Given the description of an element on the screen output the (x, y) to click on. 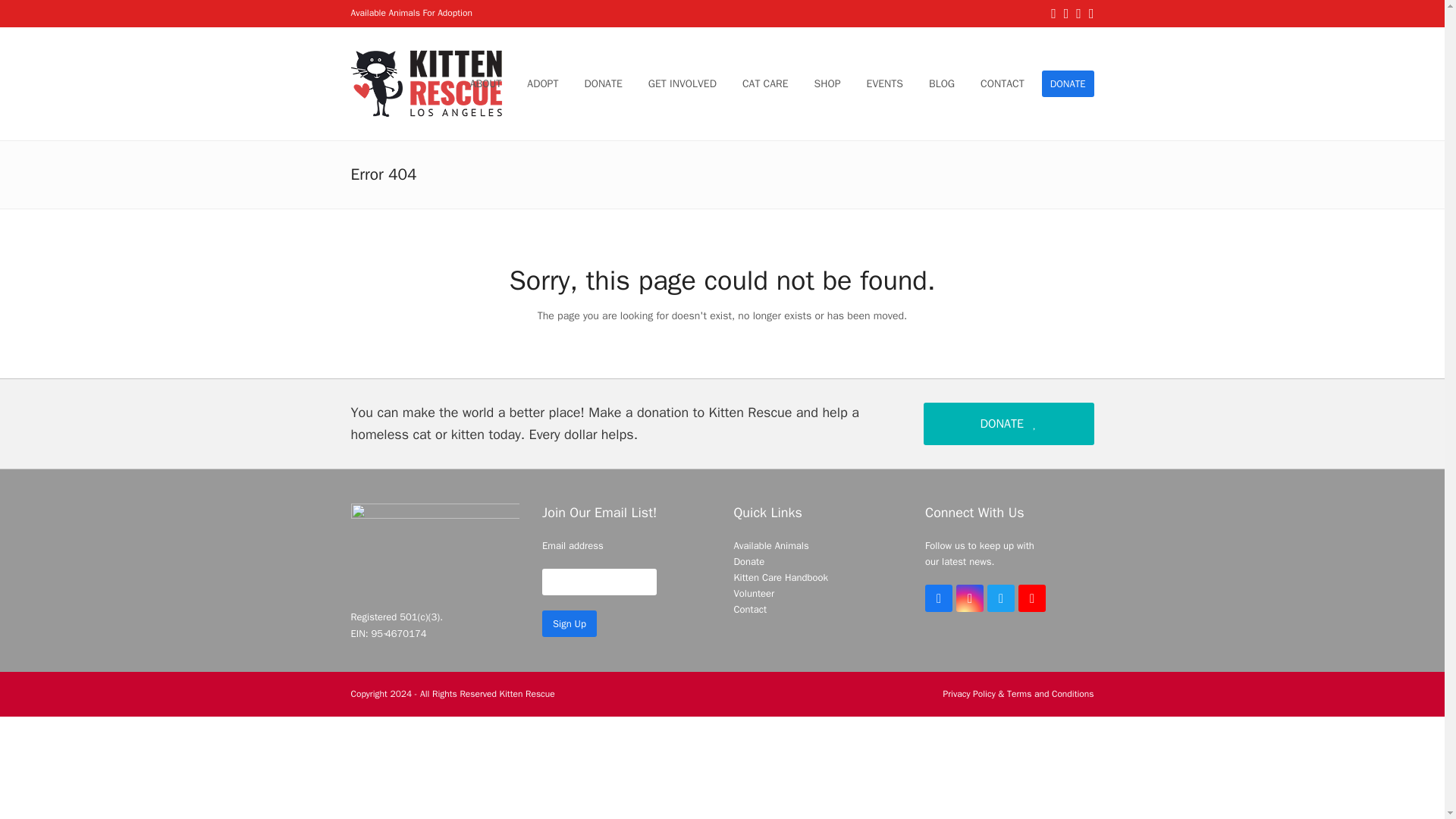
Available Animals For Adoption (410, 12)
Instagram (970, 597)
GET INVOLVED (682, 84)
ADOPT (542, 84)
CONTACT (1002, 84)
Facebook (938, 597)
Twitter (1000, 597)
CAT CARE (765, 84)
SHOP (827, 84)
YouTube (1031, 597)
